Given the description of an element on the screen output the (x, y) to click on. 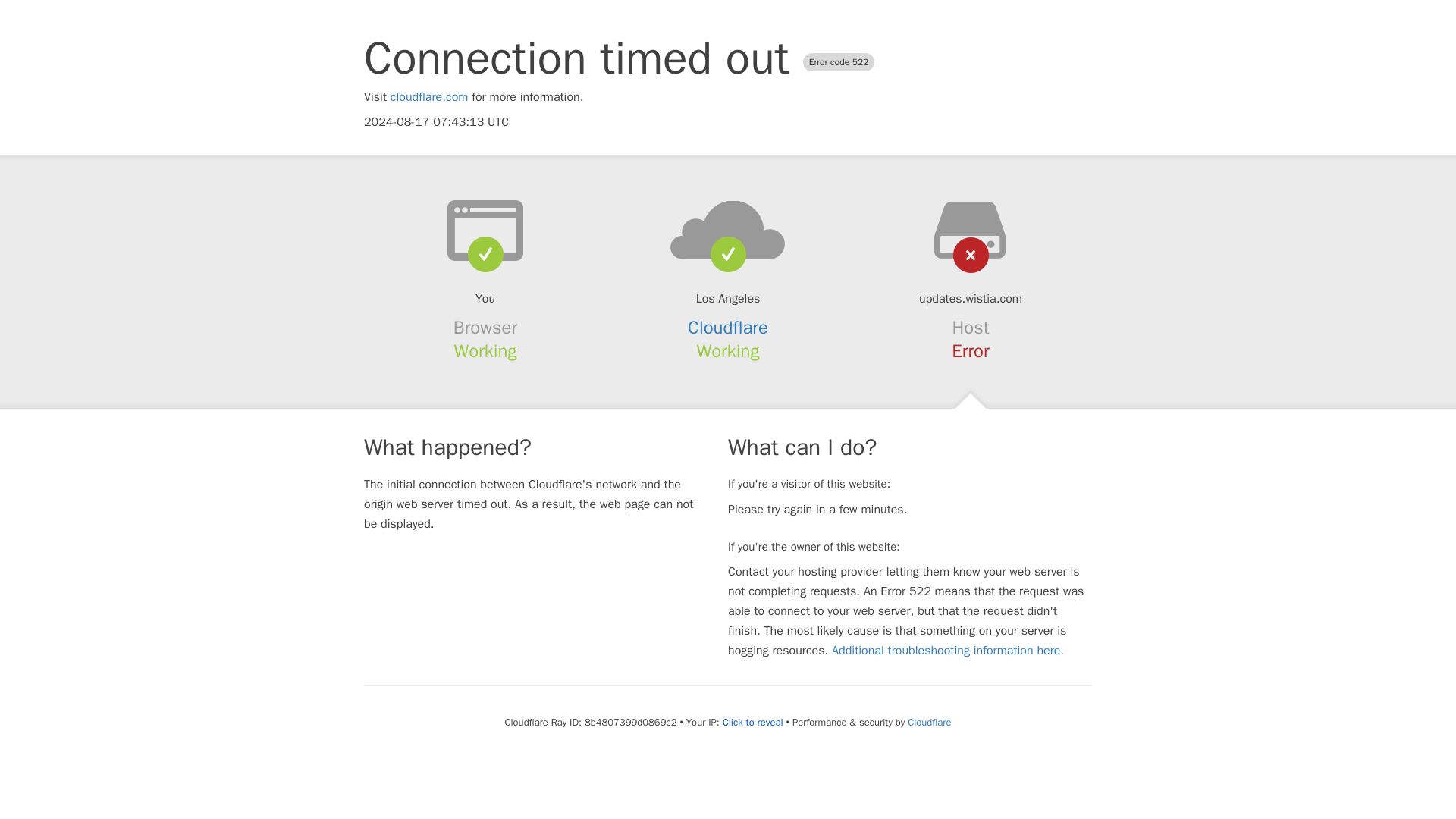
Cloudflare (727, 327)
cloudflare.com (429, 96)
Click to reveal (752, 722)
Cloudflare (928, 721)
Additional troubleshooting information here. (947, 650)
